Given the description of an element on the screen output the (x, y) to click on. 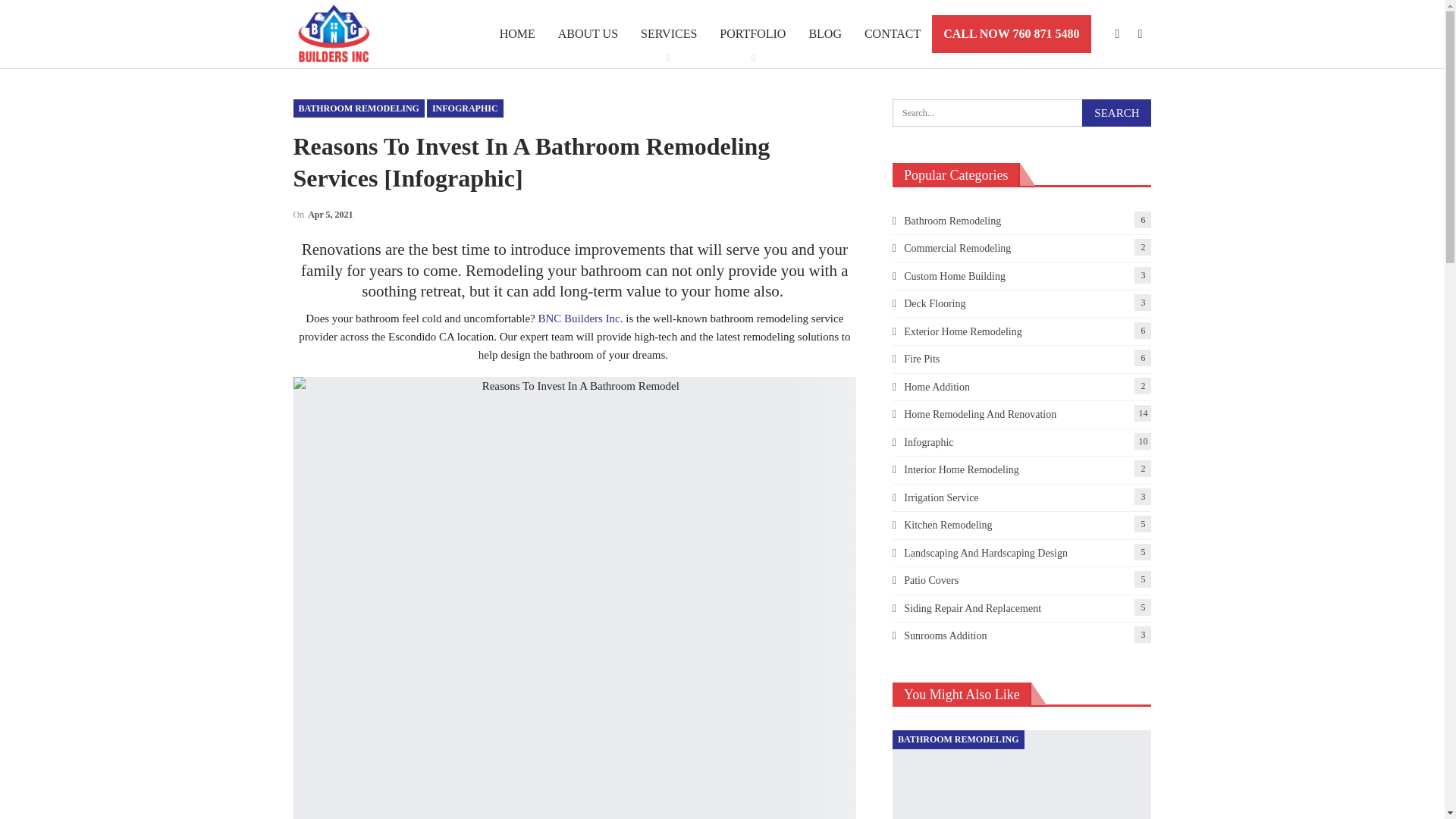
SERVICES (667, 33)
Search (1116, 112)
BNC Builders Inc. (580, 318)
Search (1116, 112)
Search for: (1021, 112)
CONTACT (892, 33)
INFOGRAPHIC (464, 108)
ABOUT US (587, 33)
CALL NOW 760 871 5480 (1010, 34)
BATHROOM REMODELING (357, 108)
PORTFOLIO (751, 33)
